Given the description of an element on the screen output the (x, y) to click on. 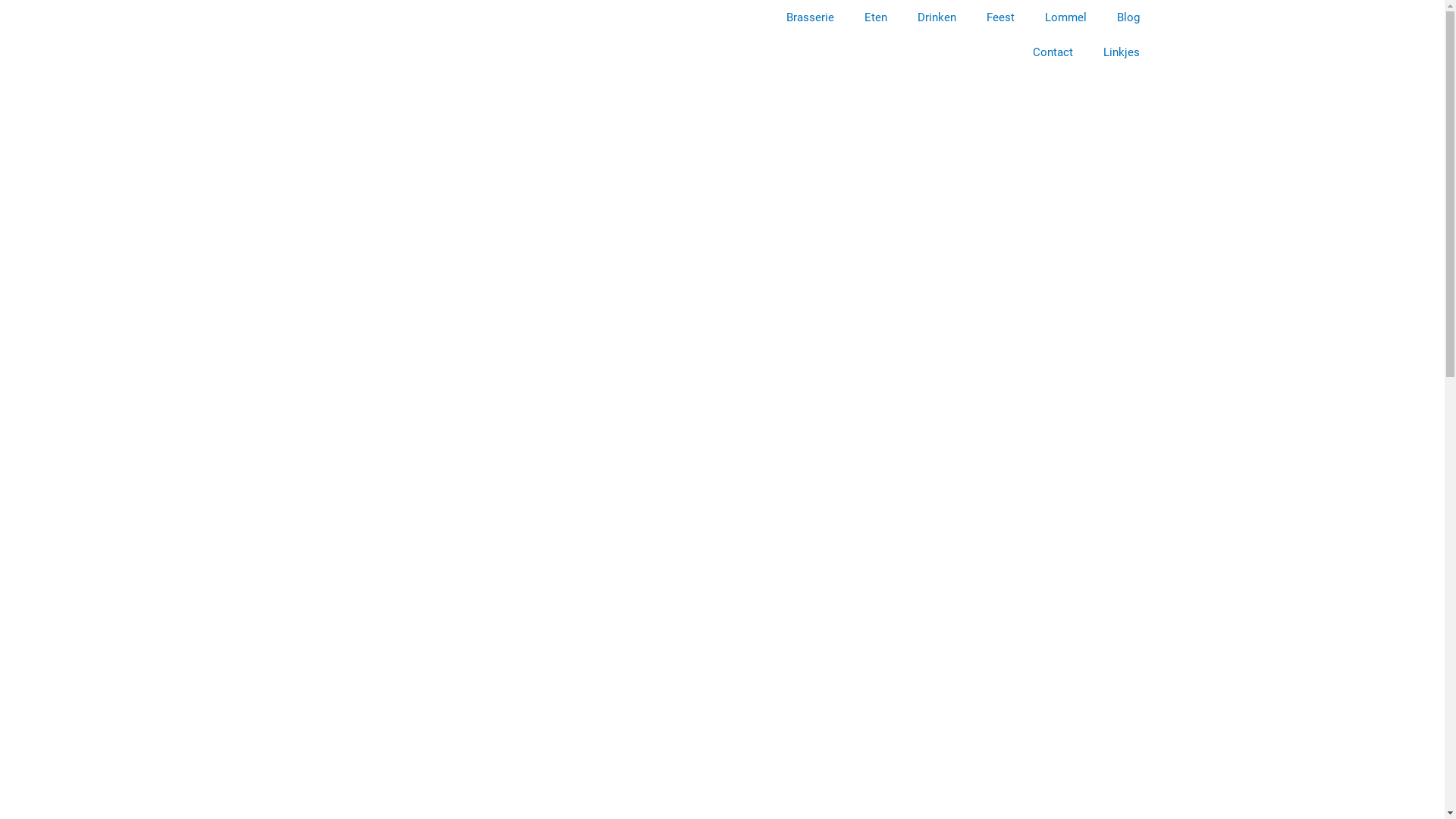
Blog Element type: text (1127, 17)
clutery-for-lunch Element type: hover (505, 18)
Eten Element type: text (875, 17)
Feest Element type: text (999, 17)
Drinken Element type: text (936, 17)
Lommel Element type: text (1065, 17)
Brasserie Element type: text (809, 17)
Linkjes Element type: text (1120, 51)
Contact Element type: text (1052, 51)
